Given the description of an element on the screen output the (x, y) to click on. 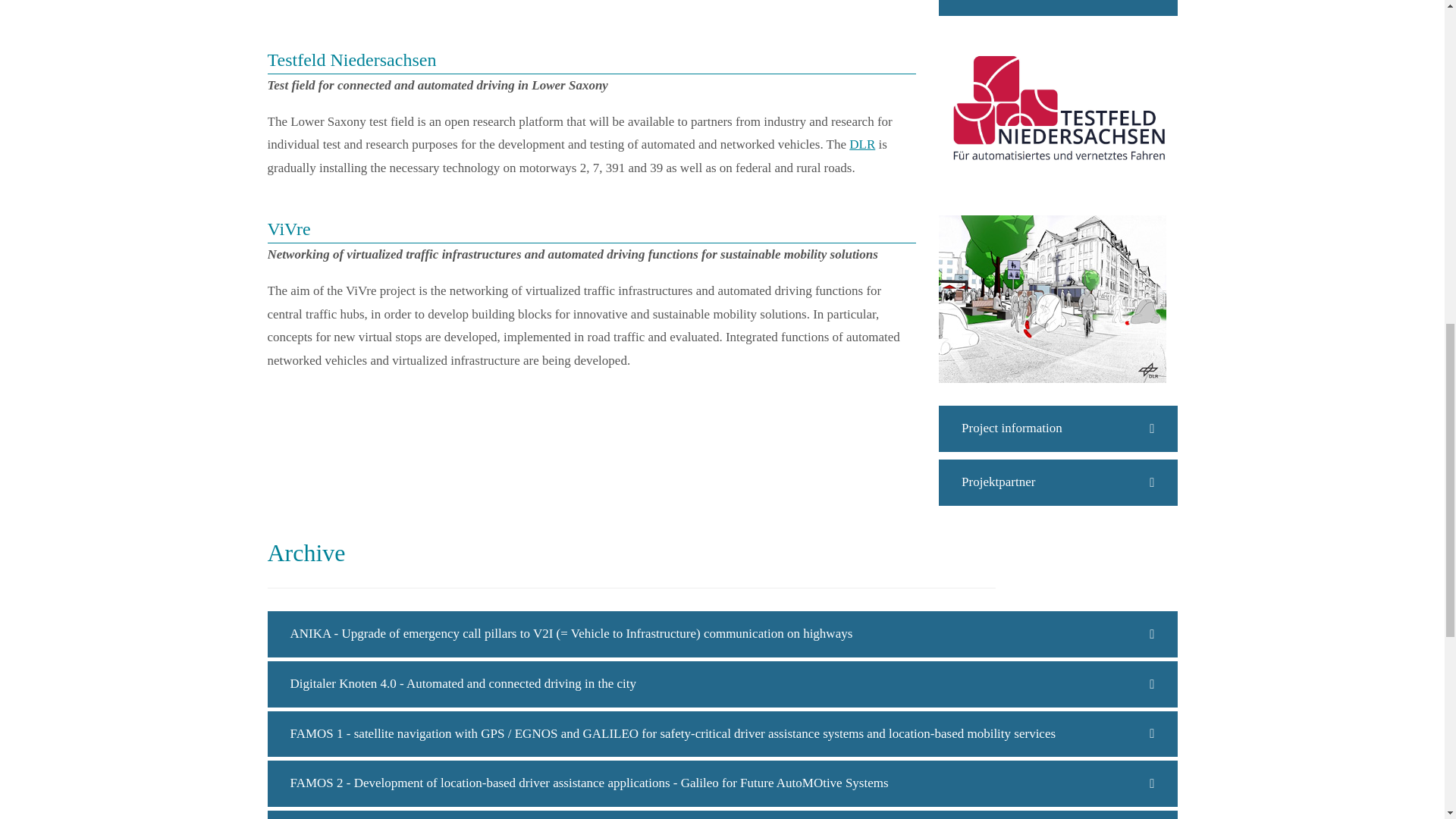
DLR (861, 144)
